Given the description of an element on the screen output the (x, y) to click on. 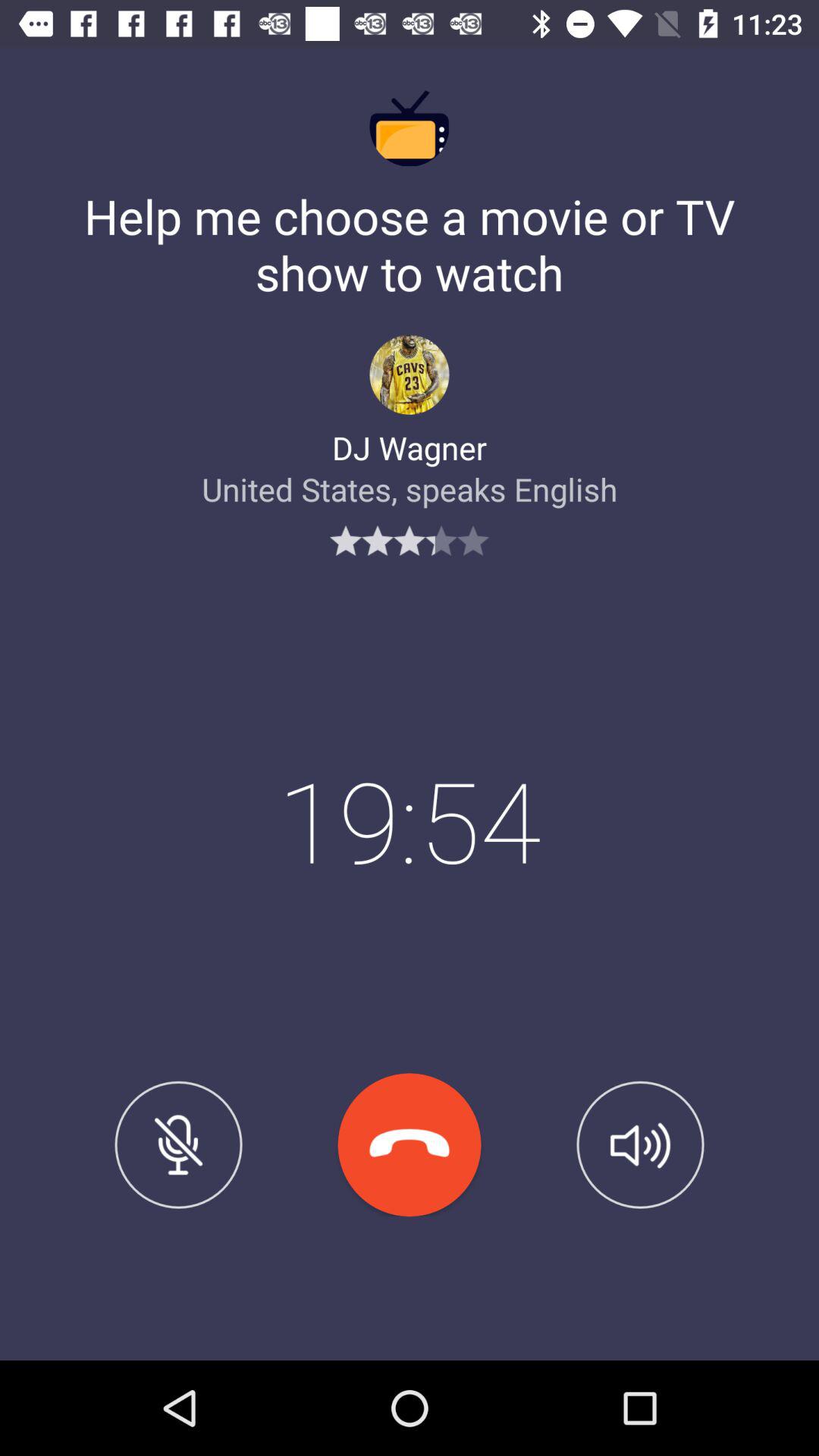
turn off the item at the bottom left corner (178, 1144)
